Given the description of an element on the screen output the (x, y) to click on. 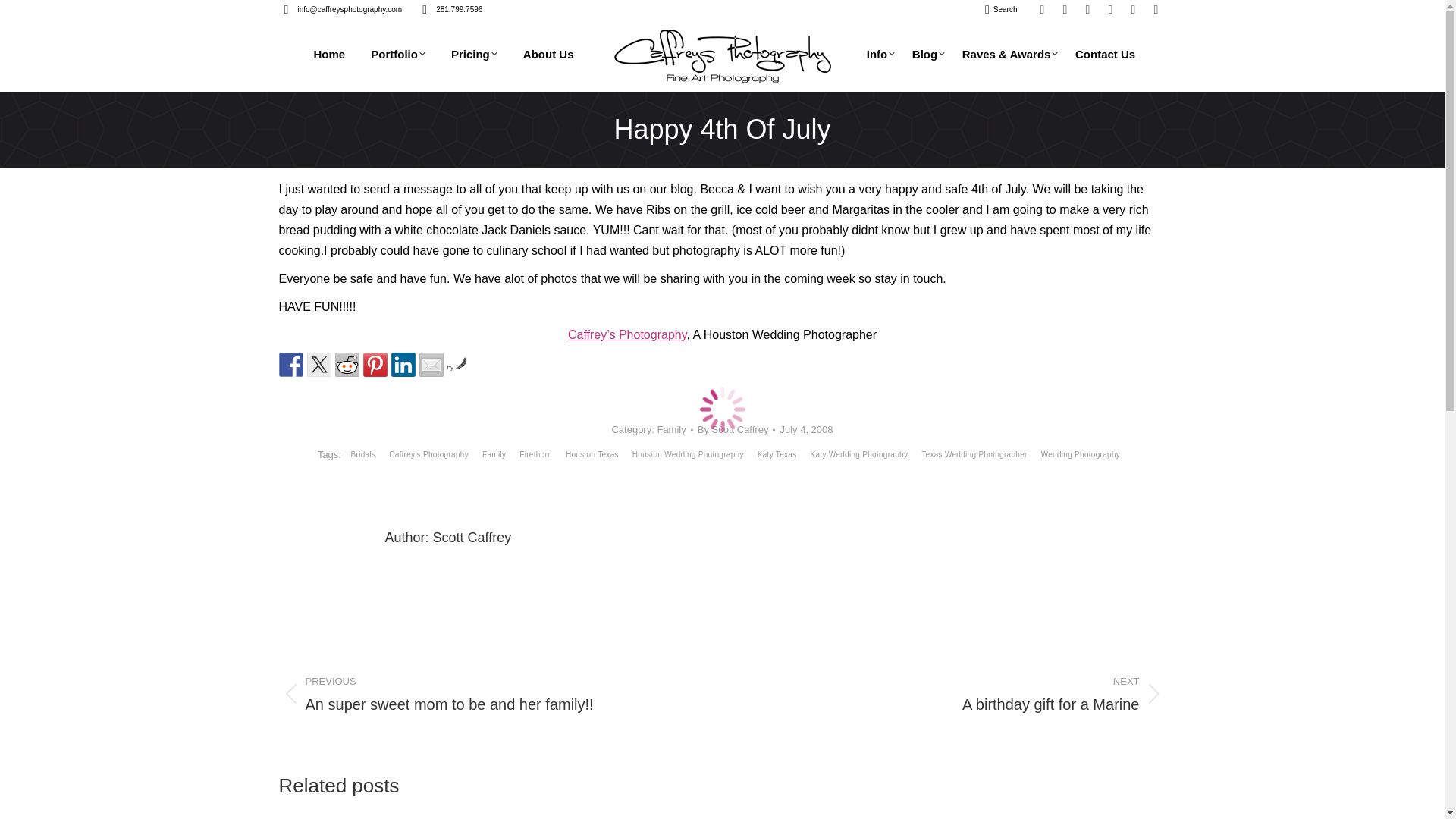
YouTube page opens in new window (1110, 9)
YouTube page opens in new window (1110, 9)
Pinterest page opens in new window (1042, 9)
Stumbleupon page opens in new window (1133, 9)
Share on Facebook (290, 364)
Pin it with Pinterest (374, 364)
Twitter page opens in new window (1087, 9)
Facebook page opens in new window (1065, 9)
Facebook page opens in new window (1065, 9)
Stumbleupon page opens in new window (1133, 9)
